Given the description of an element on the screen output the (x, y) to click on. 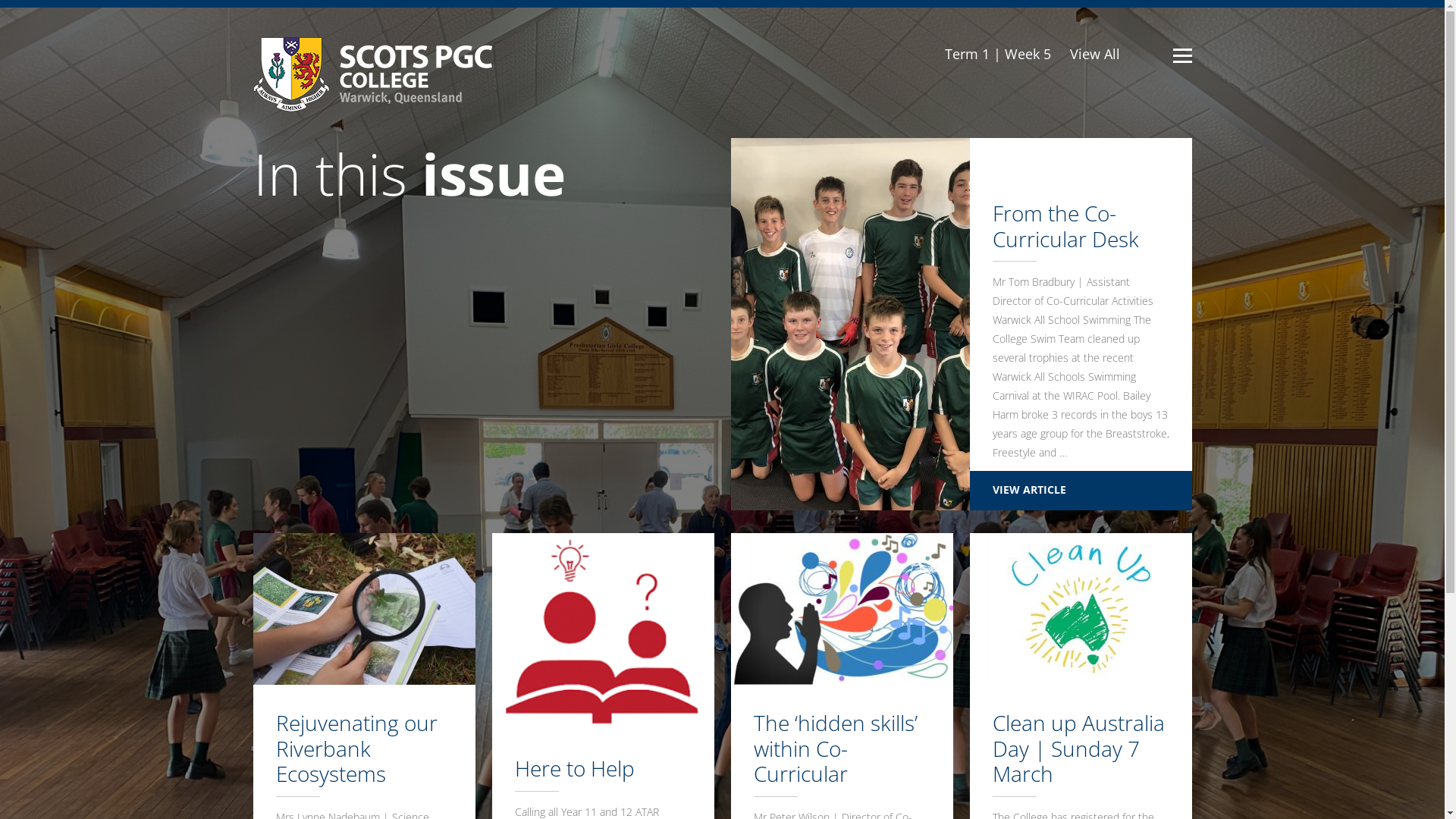
VIEW ARTICLE Element type: text (1080, 490)
Our online newsletter solution Element type: hover (372, 73)
View All Element type: text (1094, 53)
